Given the description of an element on the screen output the (x, y) to click on. 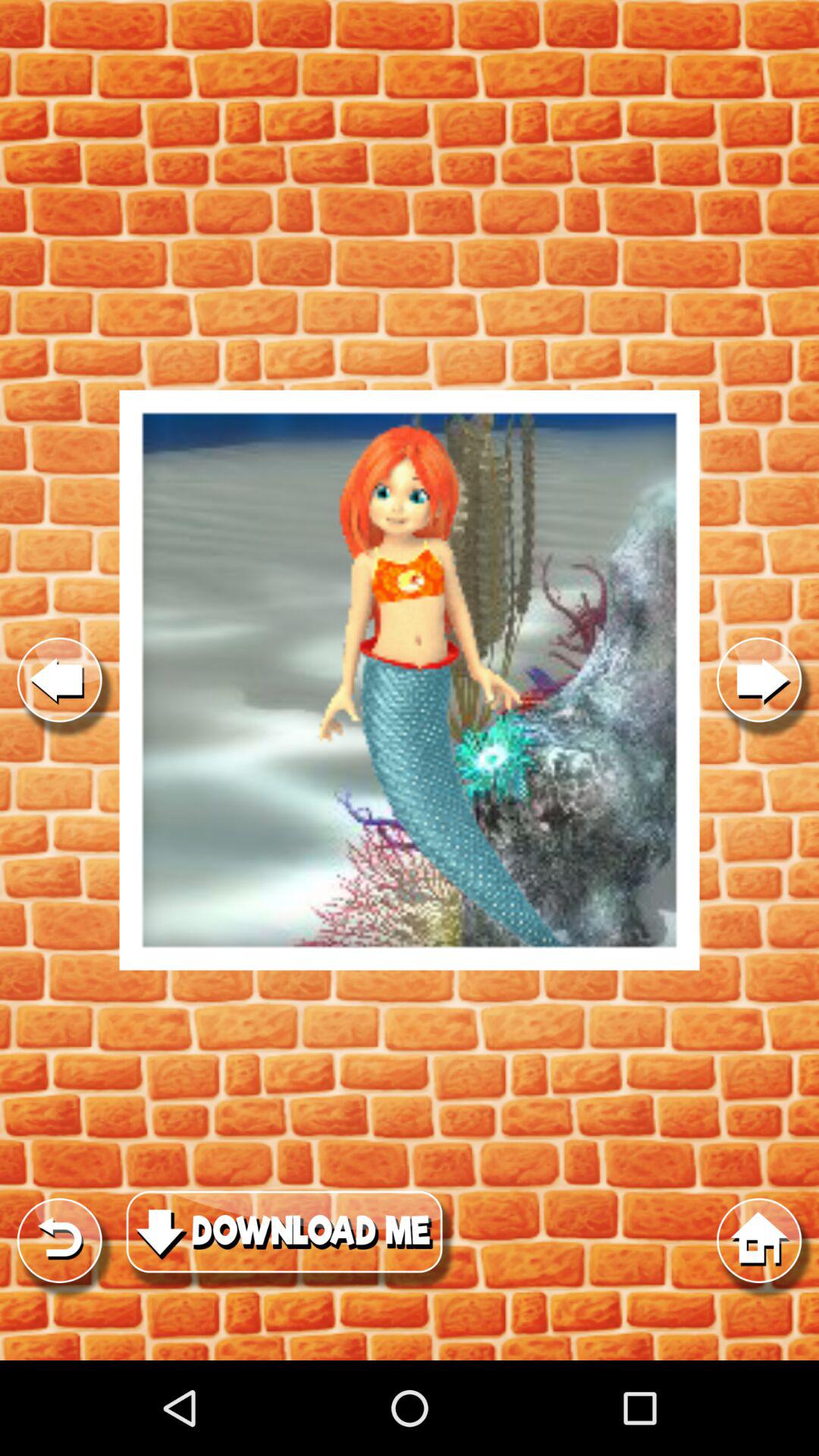
go next (759, 679)
